Given the description of an element on the screen output the (x, y) to click on. 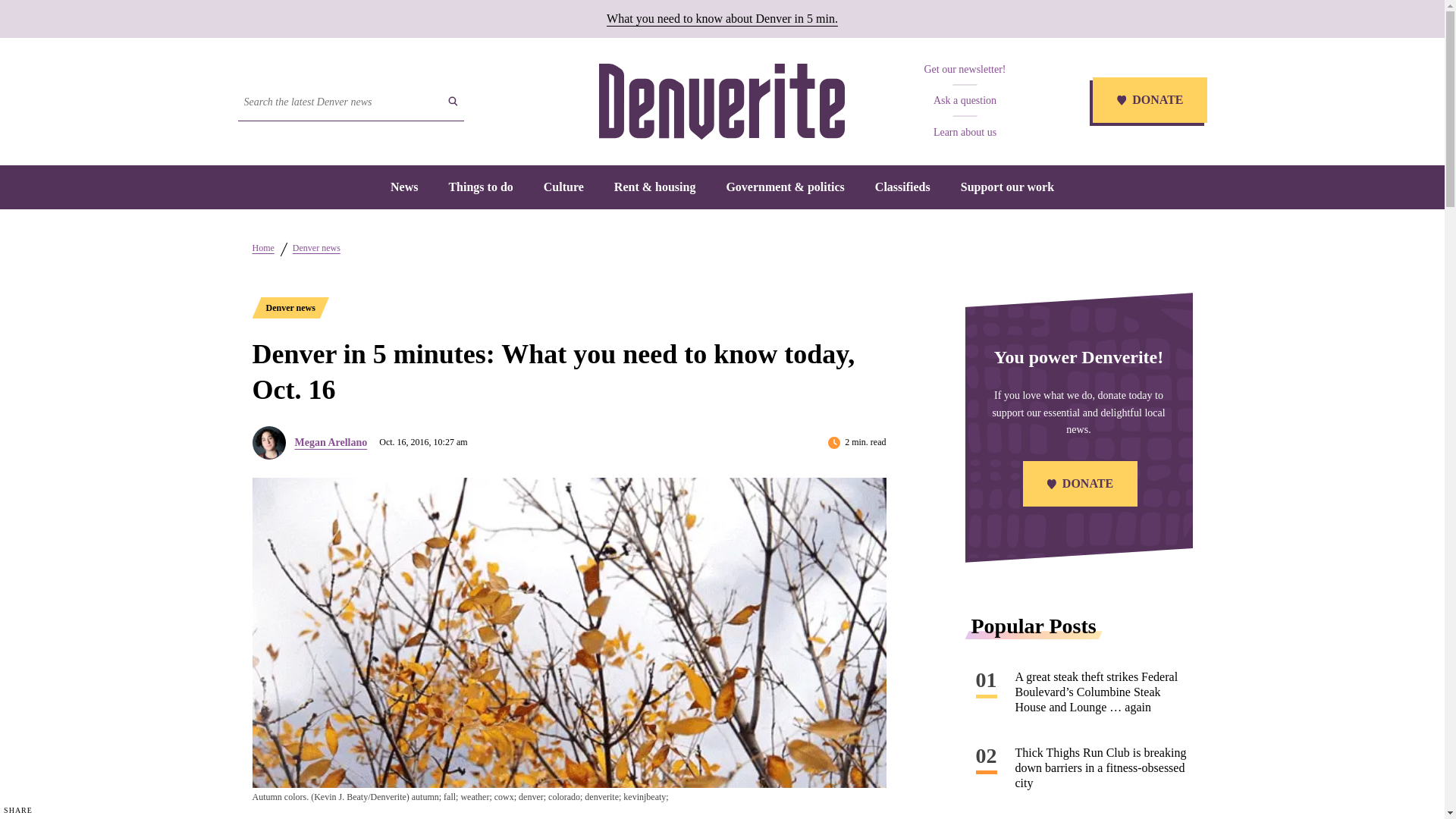
What you need to know about Denver in 5 min. (722, 18)
Learn about us (964, 132)
Ask a question (964, 100)
Denver news (316, 247)
Denverite (721, 101)
Denver news (290, 307)
Home (262, 247)
Megan Arellano (330, 441)
Things to do (480, 186)
Culture (563, 186)
Support our work (1007, 186)
Classifieds (902, 186)
News (403, 186)
Get our newsletter! (964, 69)
DONATE (1148, 101)
